Given the description of an element on the screen output the (x, y) to click on. 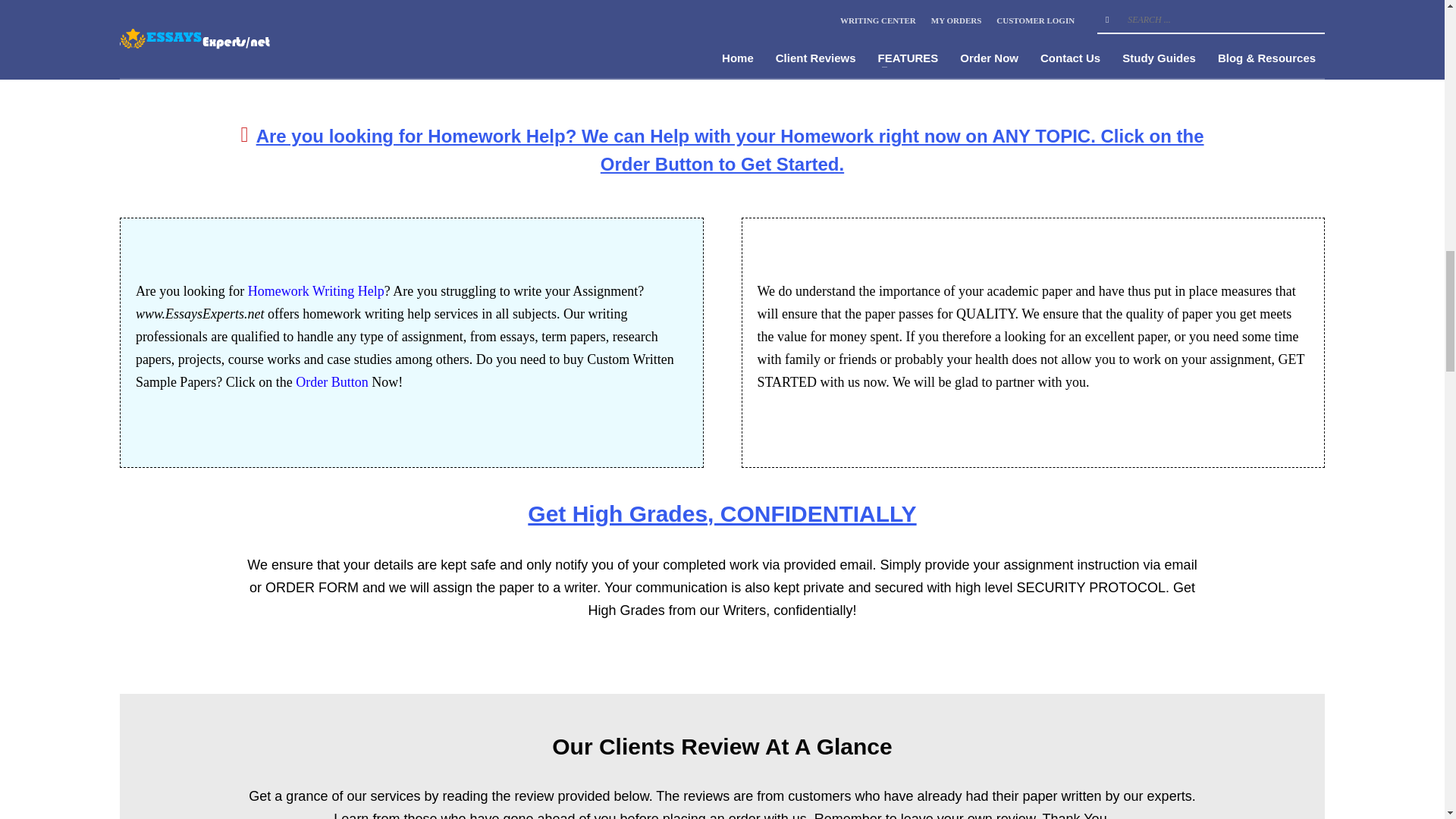
Order Button (331, 381)
ACADEMIC WRITING HELP (1140, 58)
Homework Writing Help (315, 290)
